Given the description of an element on the screen output the (x, y) to click on. 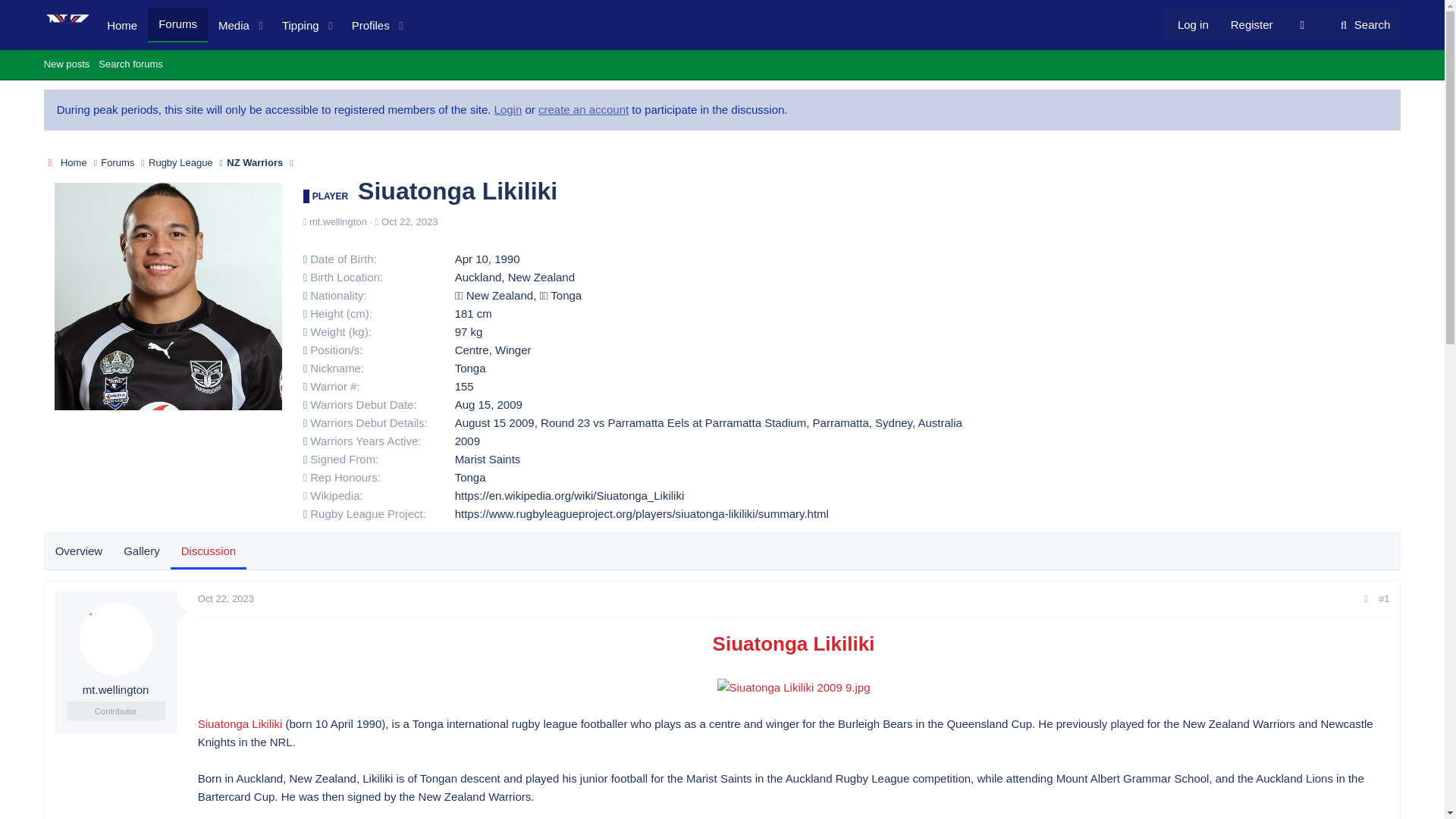
Overview Gallery Discussion (146, 551)
Media (253, 24)
Forums (229, 25)
New posts (178, 23)
Register (66, 65)
Oct 22, 2023 at 3:33 PM (722, 65)
Home (1252, 24)
Search (225, 598)
